Given the description of an element on the screen output the (x, y) to click on. 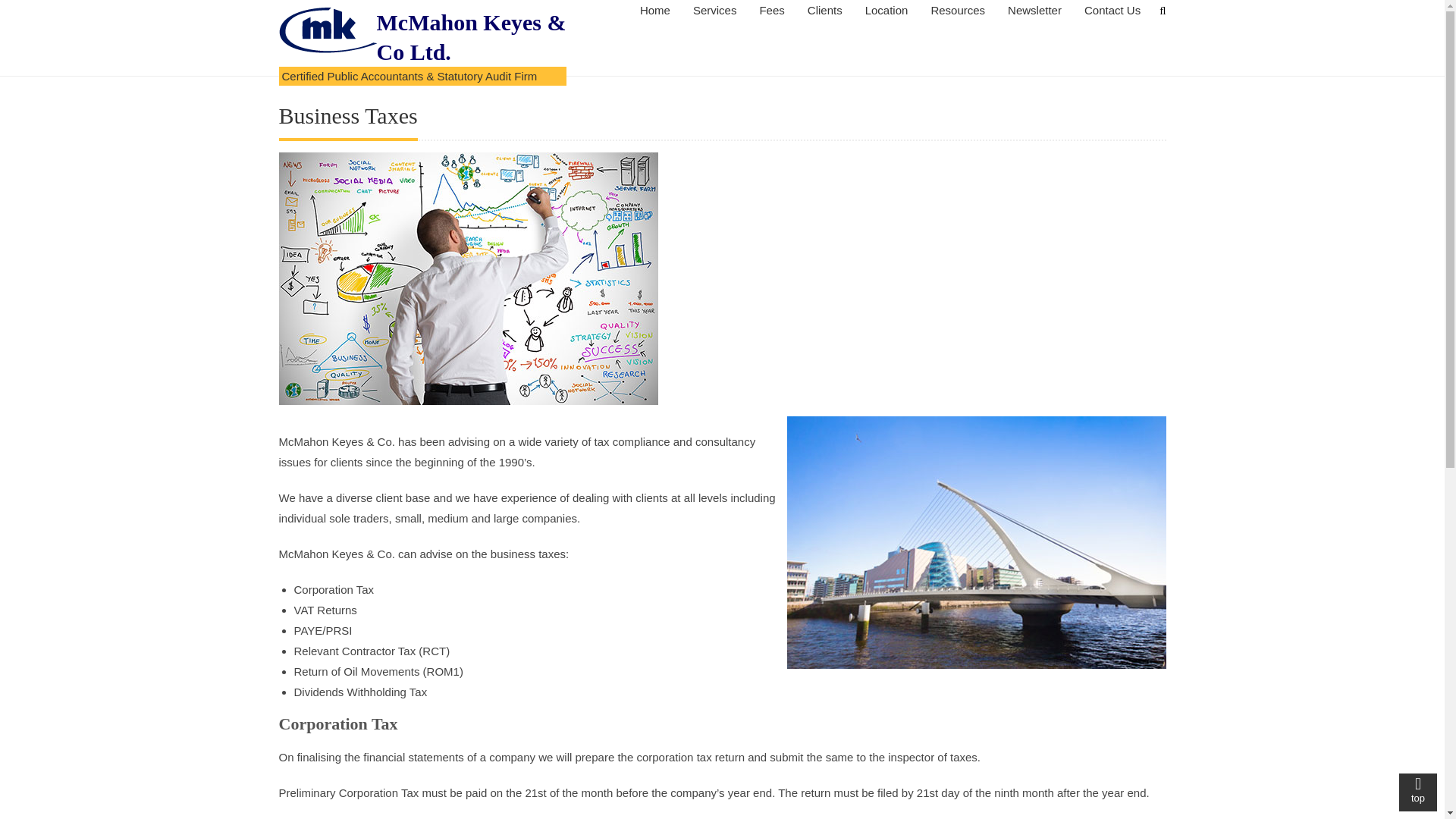
Home (654, 10)
Location (886, 10)
Clients (824, 10)
Newsletter (1034, 10)
Services (714, 10)
Fees (771, 10)
Contact Us (1112, 10)
Resources (956, 10)
